Given the description of an element on the screen output the (x, y) to click on. 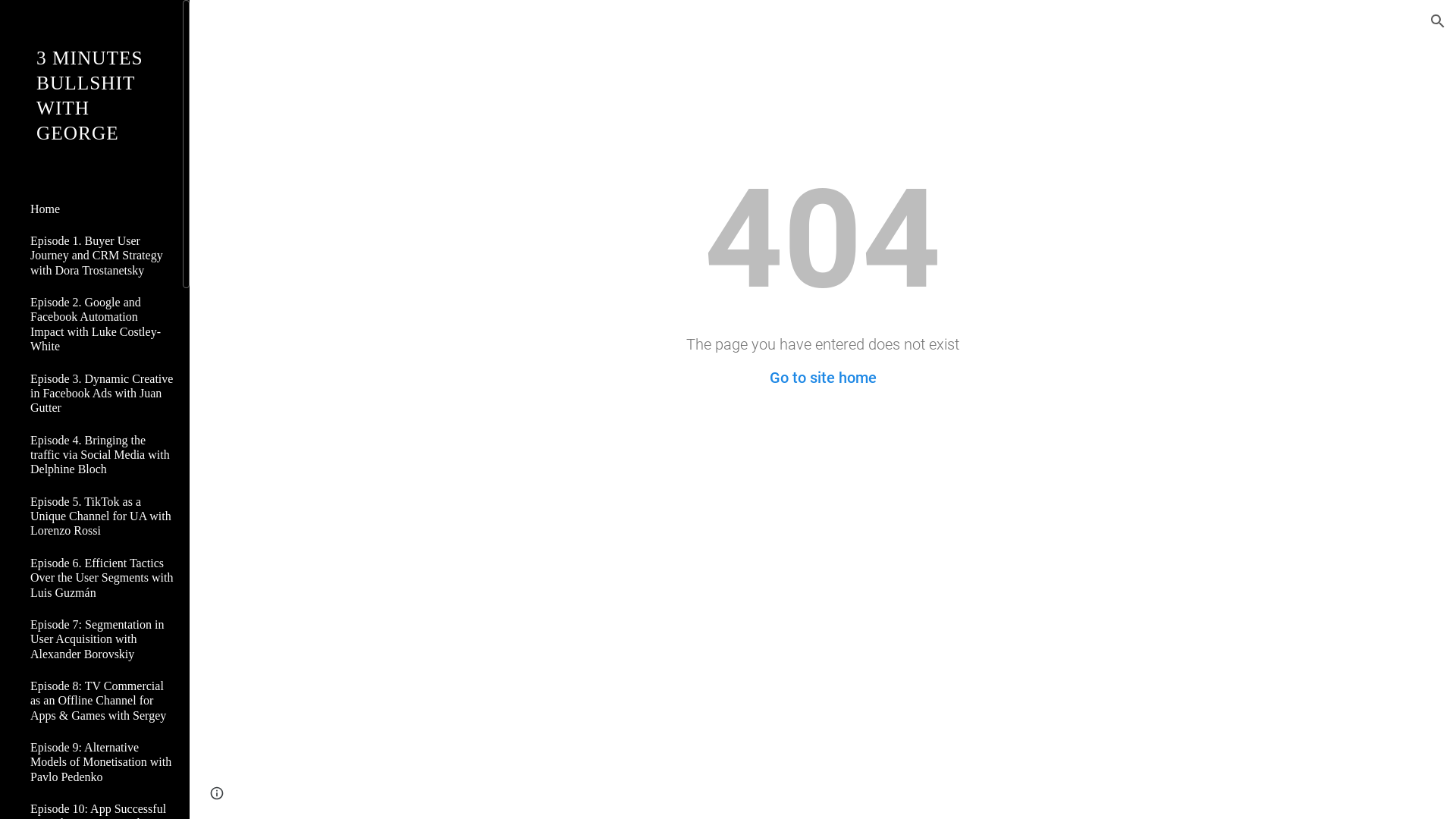
Go to site home Element type: text (821, 377)
Episode 3. Dynamic Creative in Facebook Ads with Juan Gutter Element type: text (100, 392)
3 MINUTES BULLSHIT WITH GEORGE Element type: text (91, 114)
Home Element type: text (100, 208)
